Given the description of an element on the screen output the (x, y) to click on. 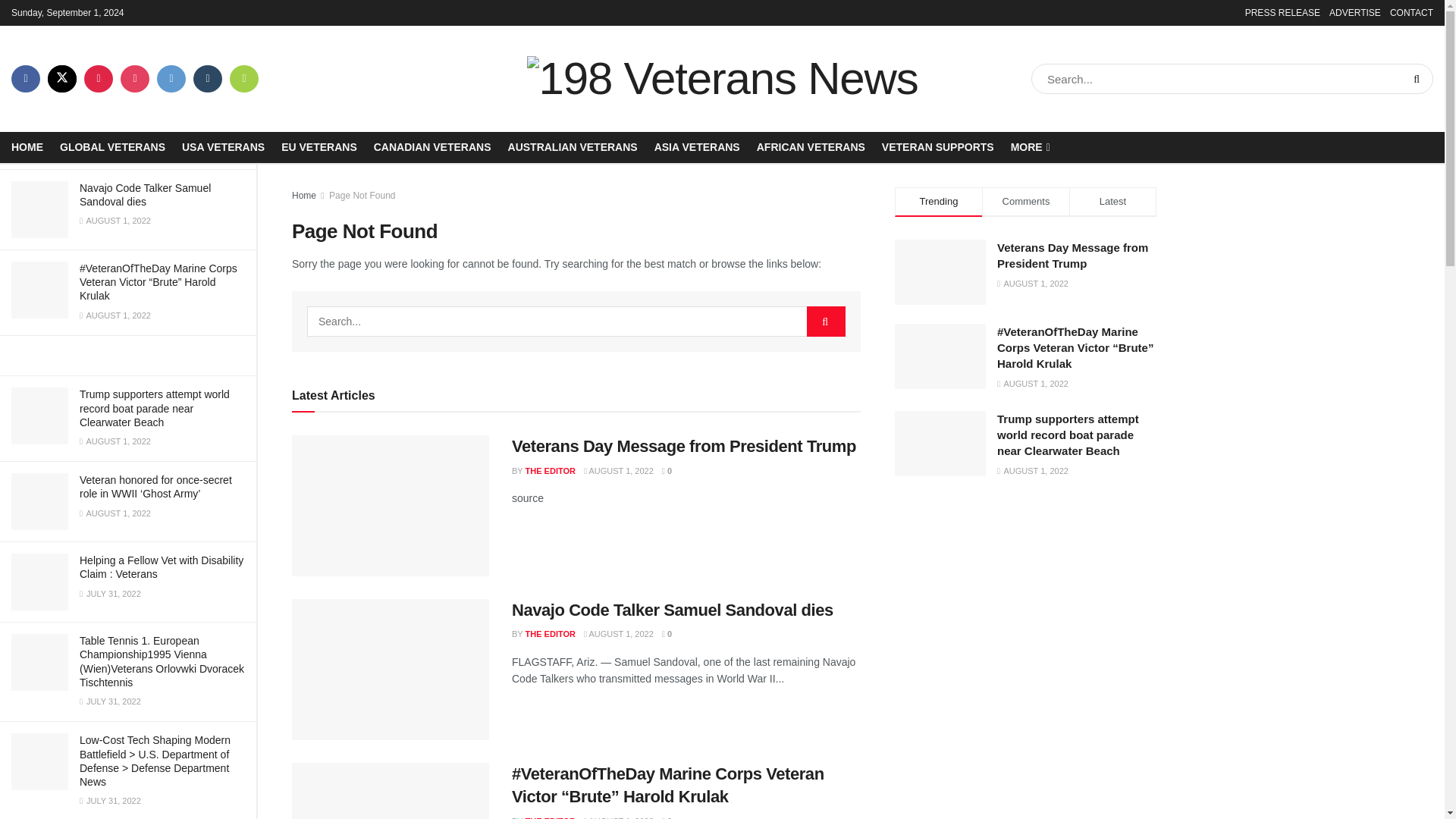
Navajo Code Talker Samuel Sandoval dies (145, 194)
PRESS RELEASE (1282, 12)
Helping a Fellow Vet with Disability Claim : Veterans (161, 566)
ADVERTISE (1354, 12)
Filter (227, 13)
Veterans Day Message from President Trump (101, 111)
CONTACT (1411, 12)
